Given the description of an element on the screen output the (x, y) to click on. 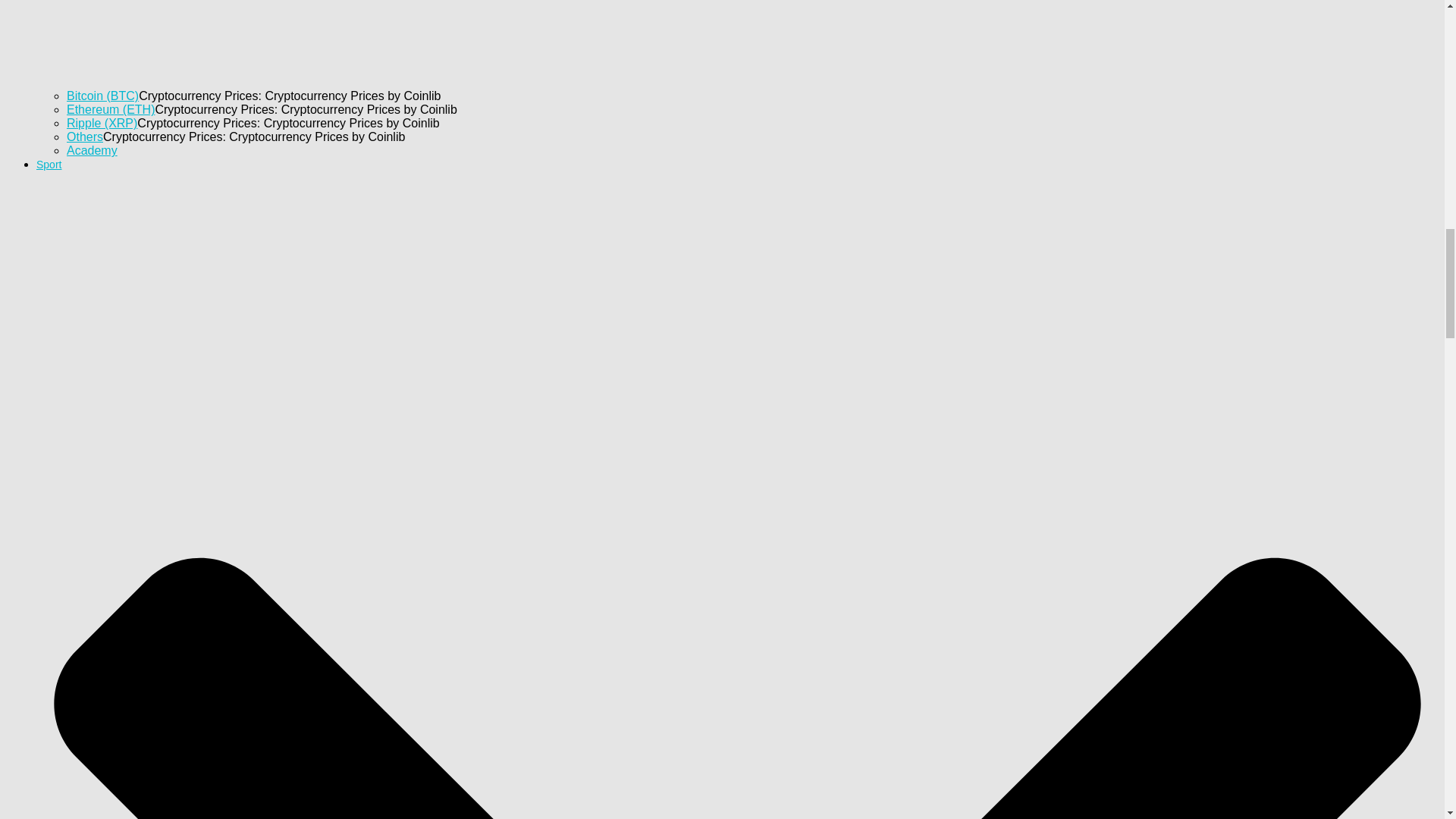
Academy (91, 150)
Others (84, 136)
Others (84, 136)
Academy (91, 150)
